Given the description of an element on the screen output the (x, y) to click on. 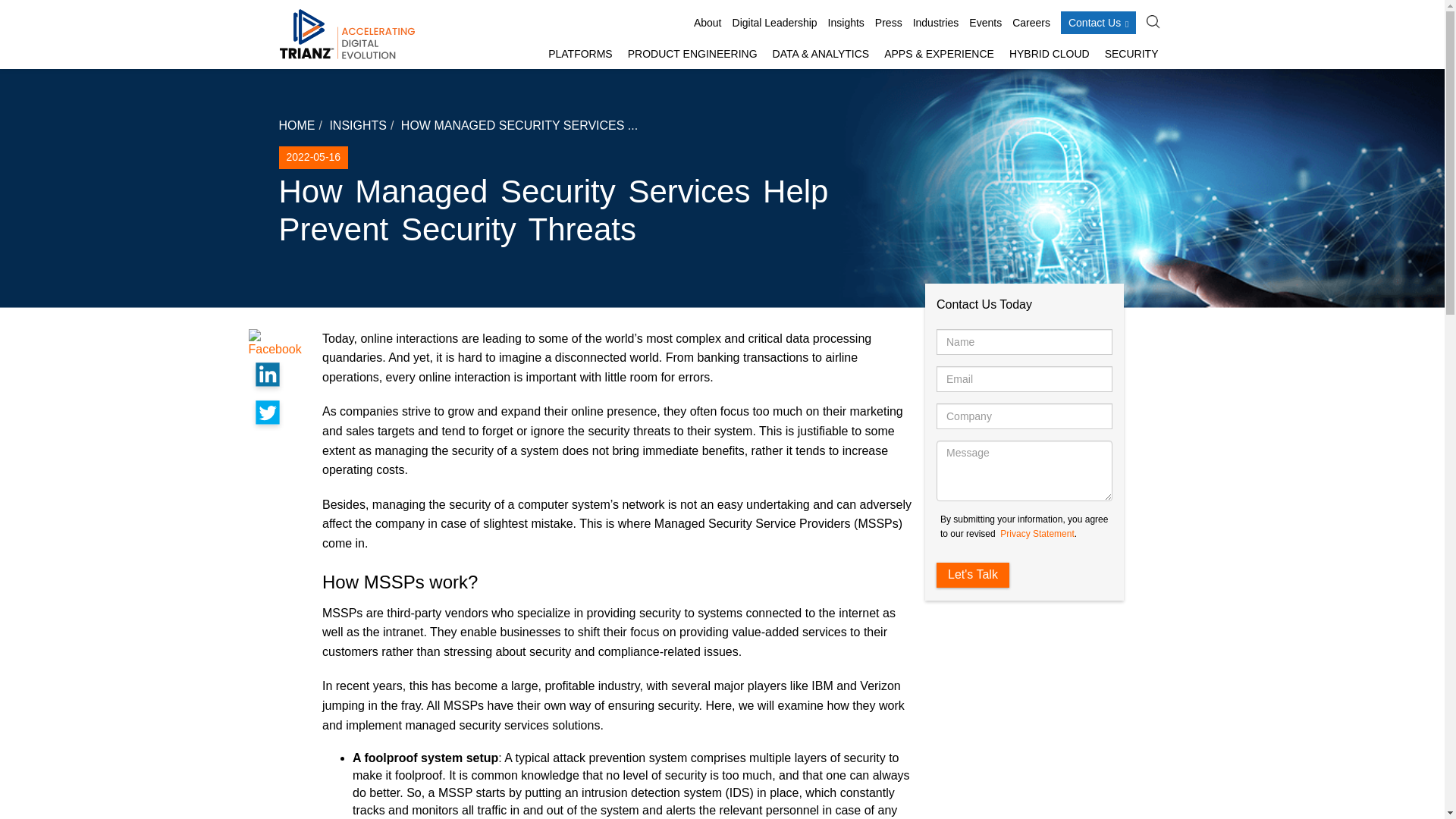
Insights (846, 22)
SECURITY (1131, 54)
HYBRID CLOUD (1049, 54)
Contact Us (1099, 22)
Press (888, 22)
About (708, 22)
PRODUCT ENGINEERING (692, 54)
Facebook (279, 341)
Events (985, 22)
